Given the description of an element on the screen output the (x, y) to click on. 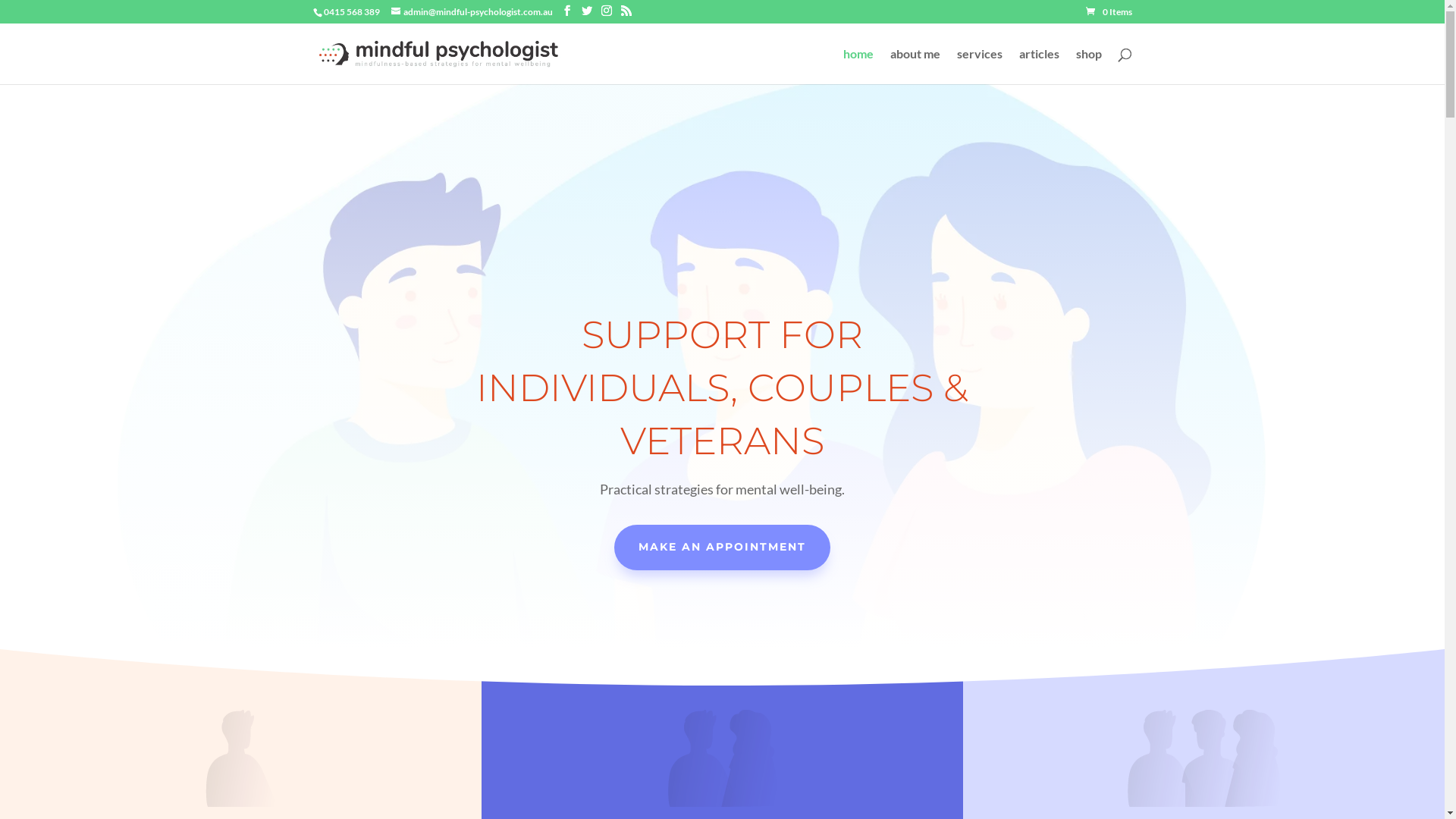
services Element type: text (979, 66)
home Element type: text (858, 66)
admin@mindful-psychologist.com.au Element type: text (471, 11)
MAKE AN APPOINTMENT Element type: text (722, 547)
articles Element type: text (1039, 66)
about me Element type: text (915, 66)
0 Items Element type: text (1108, 11)
shop Element type: text (1088, 66)
